Given the description of an element on the screen output the (x, y) to click on. 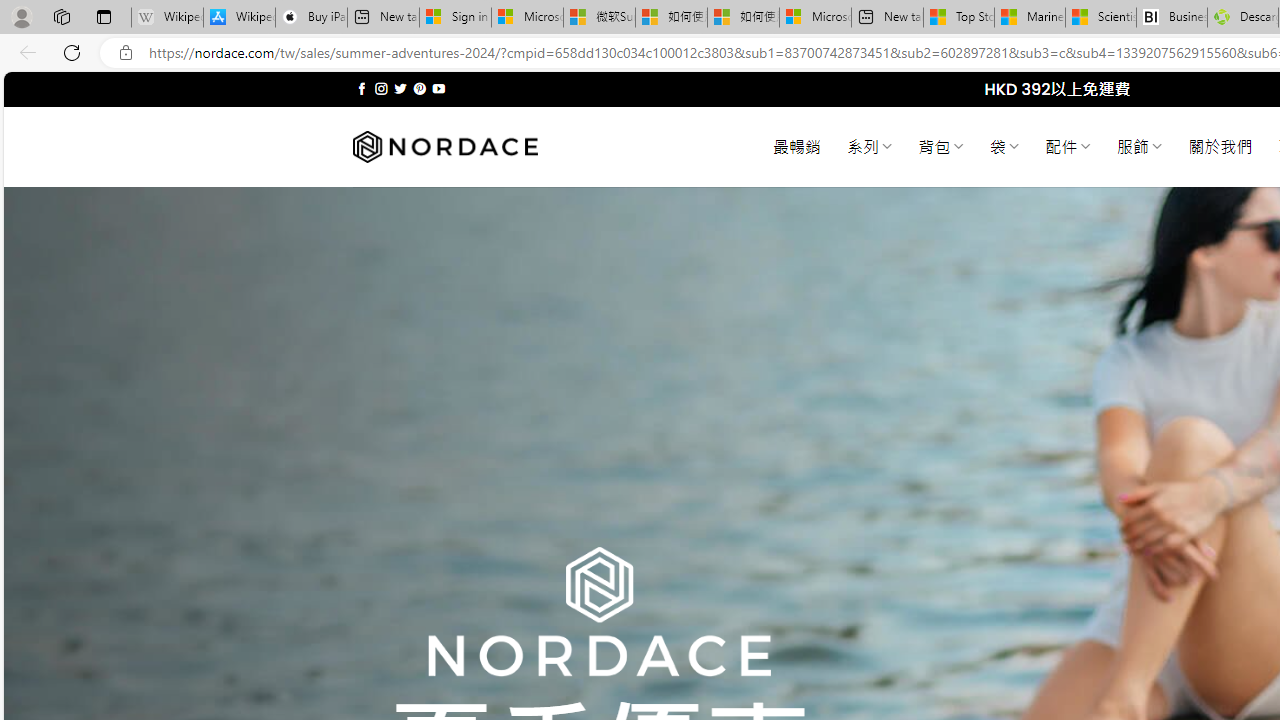
Wikipedia - Sleeping (167, 17)
Nordace (444, 147)
Follow on Facebook (361, 88)
Microsoft Services Agreement (527, 17)
Buy iPad - Apple (311, 17)
